Given the description of an element on the screen output the (x, y) to click on. 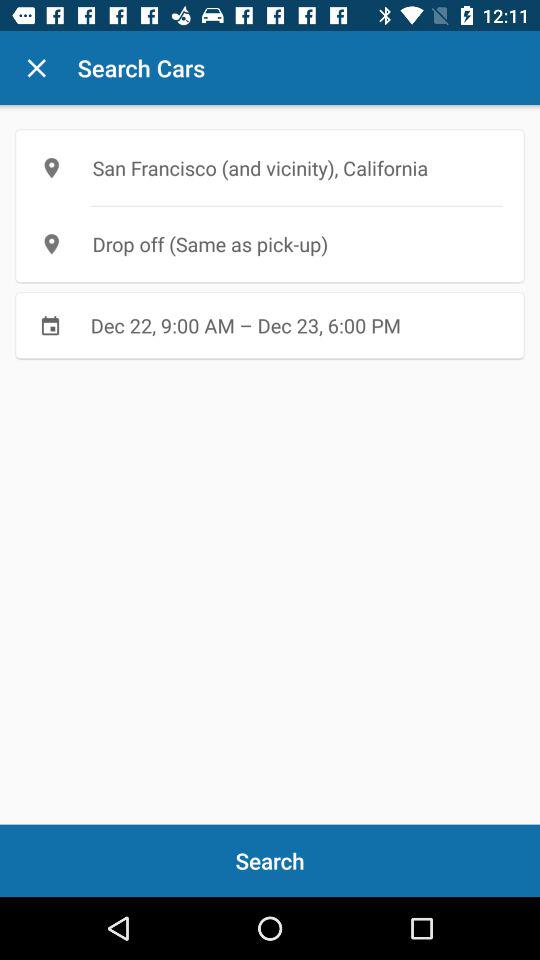
turn on the drop off same icon (269, 244)
